Given the description of an element on the screen output the (x, y) to click on. 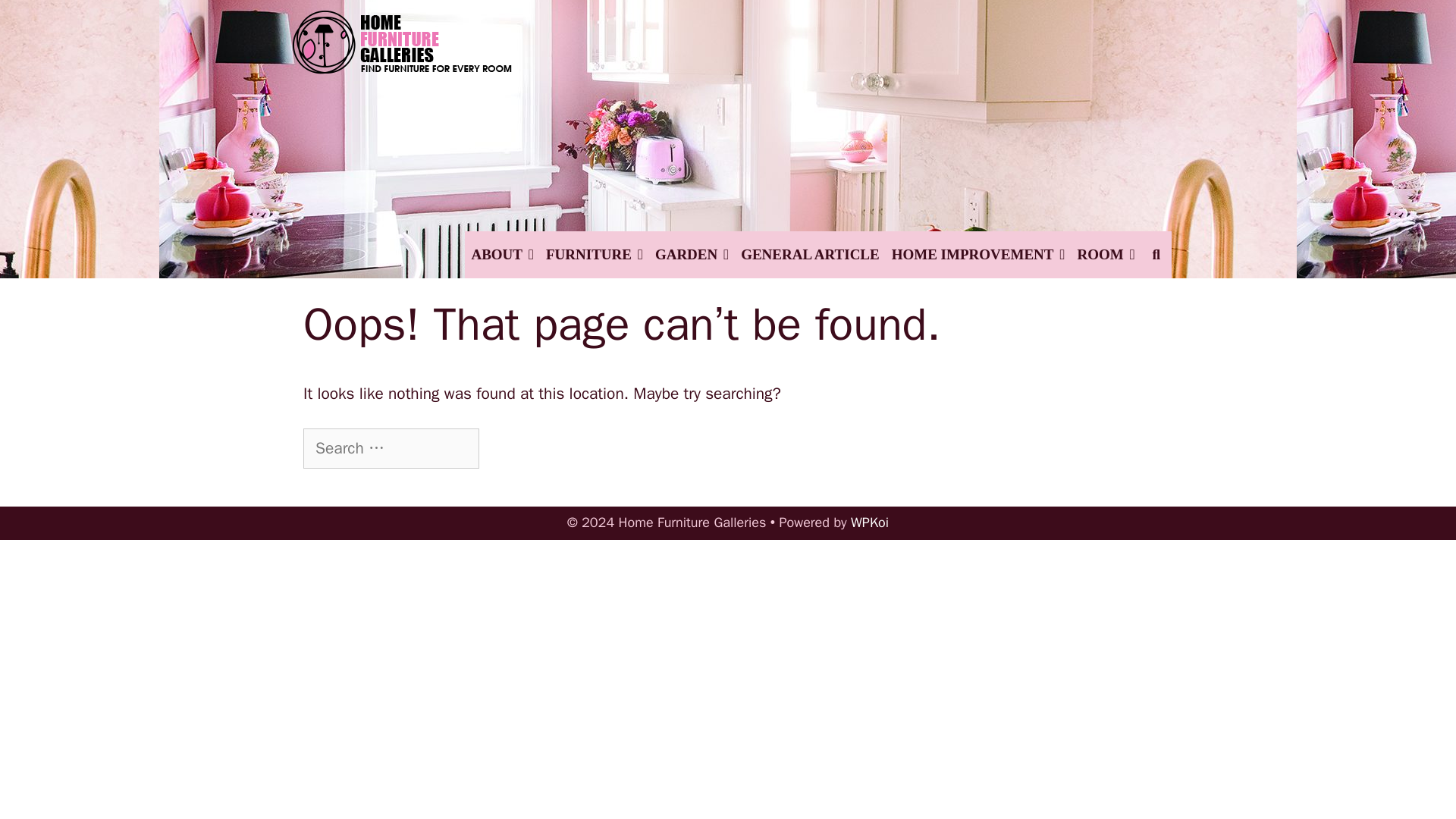
GENERAL ARTICLE (810, 254)
ABOUT (502, 254)
FURNITURE (594, 254)
Search (518, 448)
Home Furniture Galleries (401, 116)
Search (353, 23)
Search for: (390, 448)
HOME IMPROVEMENT (978, 254)
Home Furniture Galleries (401, 117)
